Given the description of an element on the screen output the (x, y) to click on. 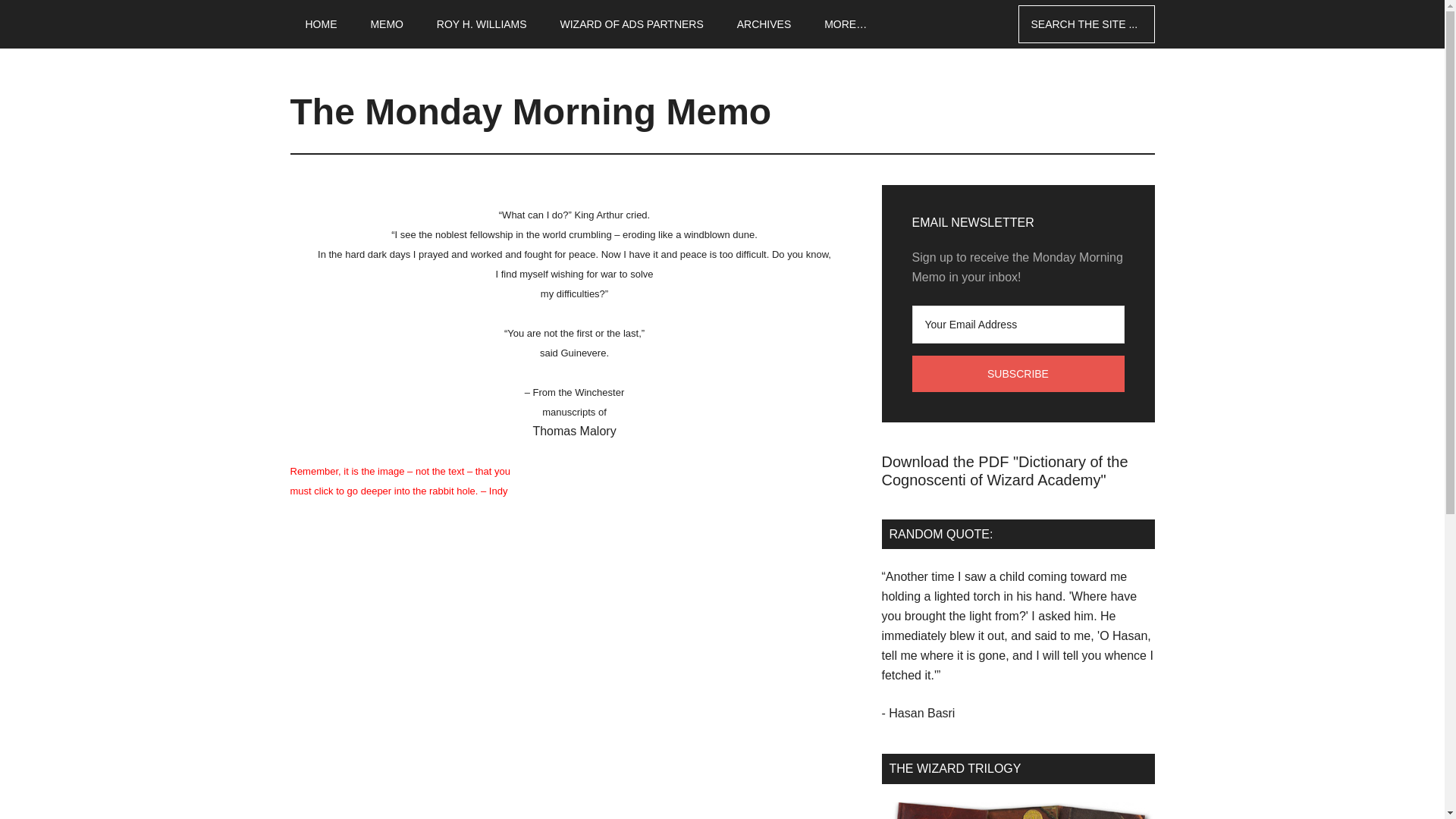
Subscribe (1017, 373)
HOME (320, 24)
The Monday Morning Memo (530, 111)
WIZARD OF ADS PARTNERS (631, 24)
Subscribe (1017, 373)
MEMO (387, 24)
ARCHIVES (764, 24)
